Given the description of an element on the screen output the (x, y) to click on. 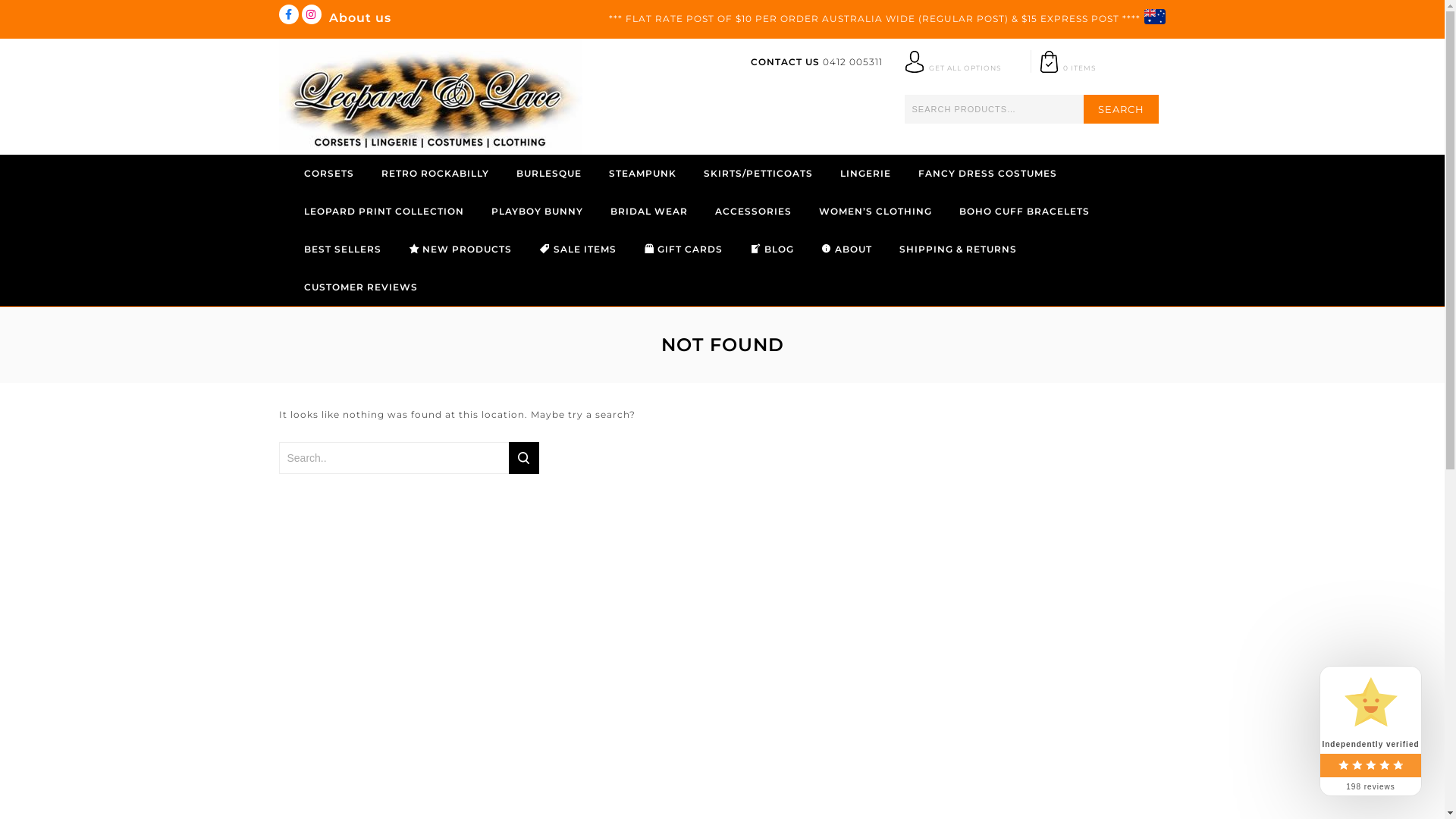
BOHO CUFF BRACELETS Element type: text (1023, 211)
NEW PRODUCTS Element type: text (459, 249)
Leopard & Lace Australia Element type: hover (430, 93)
LEOPARD PRINT COLLECTION Element type: text (382, 211)
PLAYBOY BUNNY Element type: text (536, 211)
SHIPPING & RETURNS Element type: text (957, 249)
BEST SELLERS Element type: text (341, 249)
FANCY DRESS COSTUMES Element type: text (986, 173)
Go Element type: text (523, 457)
LINGERIE Element type: text (865, 173)
Instagram Element type: hover (311, 14)
ABOUT Element type: text (846, 249)
ACCESSORIES Element type: text (752, 211)
SALE ITEMS Element type: text (577, 249)
RETRO ROCKABILLY Element type: text (434, 173)
SEARCH Element type: text (1119, 108)
STEAMPUNK Element type: text (641, 173)
BLOG Element type: text (771, 249)
Facebook Element type: hover (288, 14)
About us Element type: text (360, 17)
GIFT CARDS Element type: text (683, 249)
CORSETS Element type: text (328, 173)
BRIDAL WEAR Element type: text (648, 211)
CUSTOMER REVIEWS Element type: text (359, 287)
SKIRTS/PETTICOATS Element type: text (758, 173)
0 ITEMS Element type: text (1093, 68)
BURLESQUE Element type: text (548, 173)
